Given the description of an element on the screen output the (x, y) to click on. 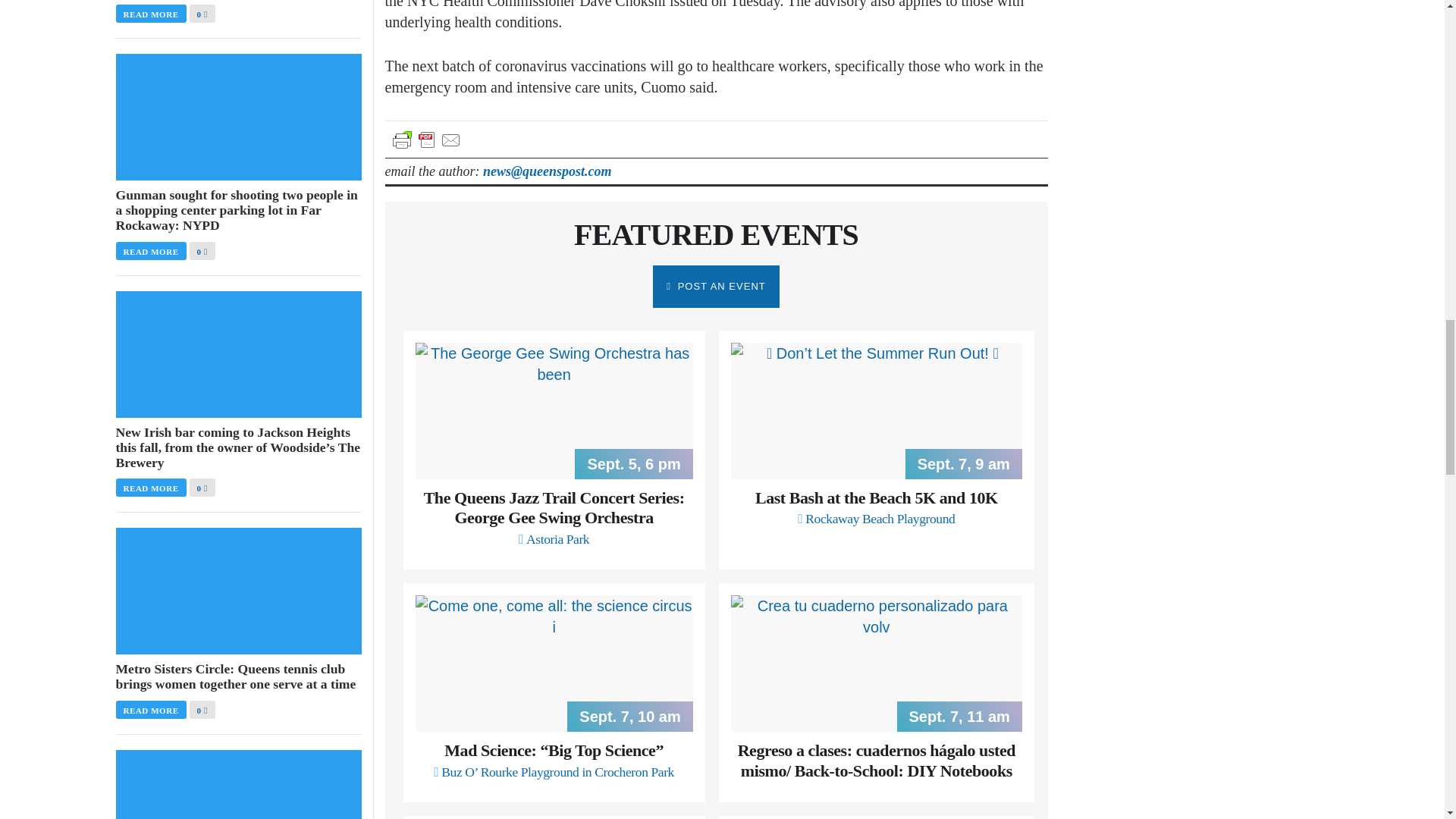
POST AN EVENT (715, 286)
FEATURED EVENTS (716, 234)
